Given the description of an element on the screen output the (x, y) to click on. 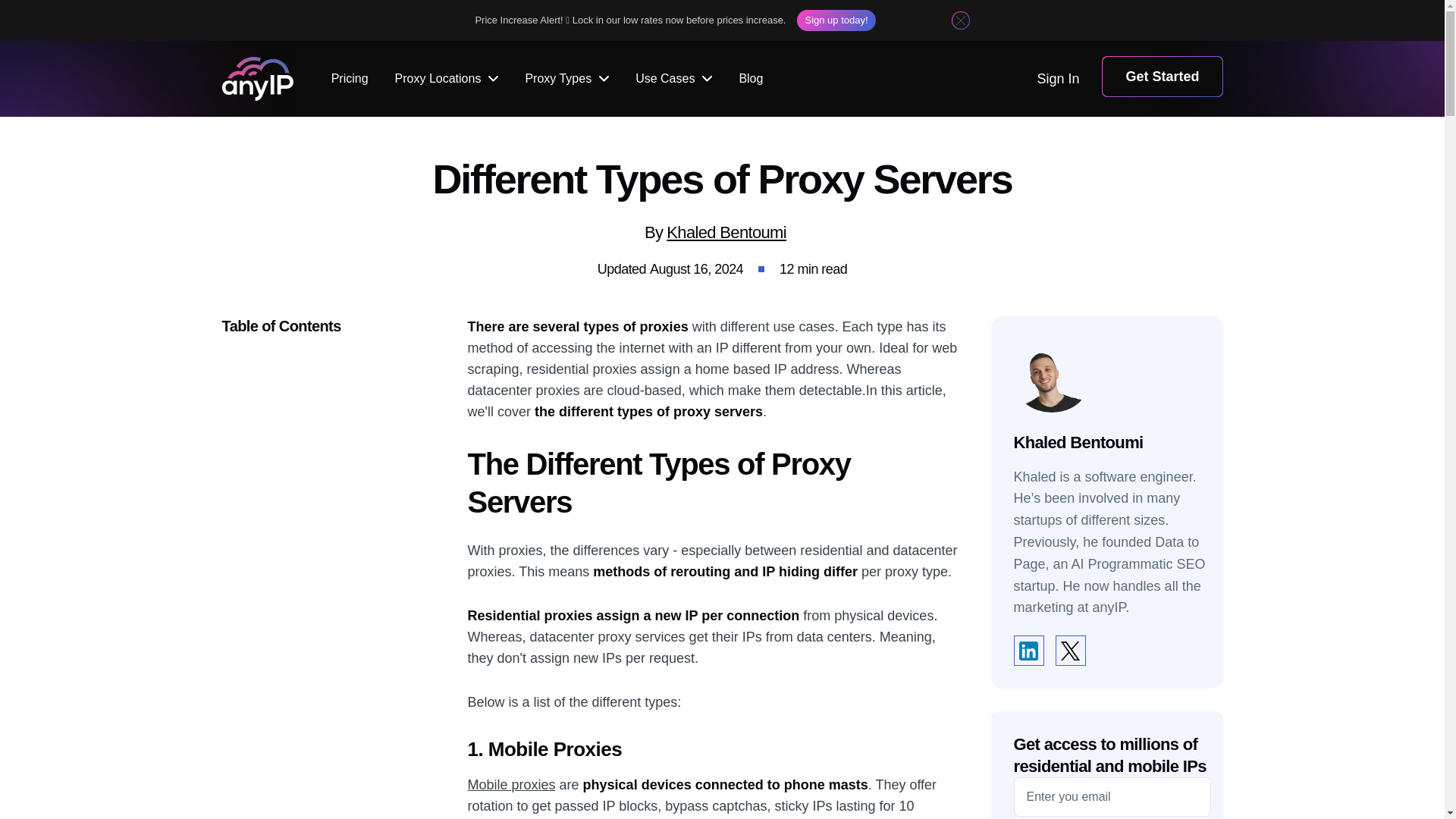
Pricing (349, 78)
Sign In (1057, 78)
Blog (750, 78)
Mobile proxies (510, 784)
Sign up today! (835, 20)
Get Started (1162, 76)
